Given the description of an element on the screen output the (x, y) to click on. 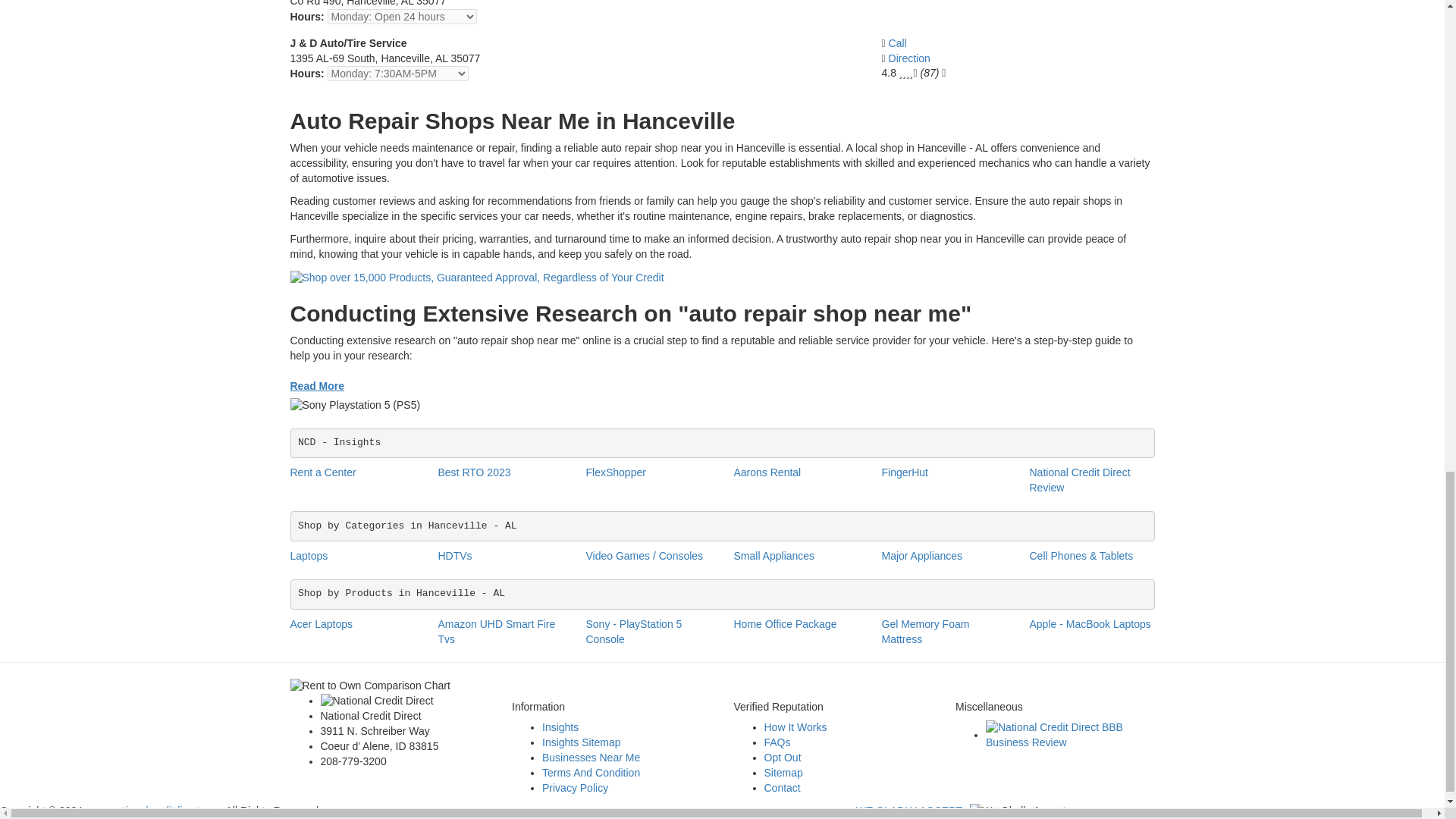
Call (897, 42)
Direction (909, 58)
Read More (316, 386)
